Given the description of an element on the screen output the (x, y) to click on. 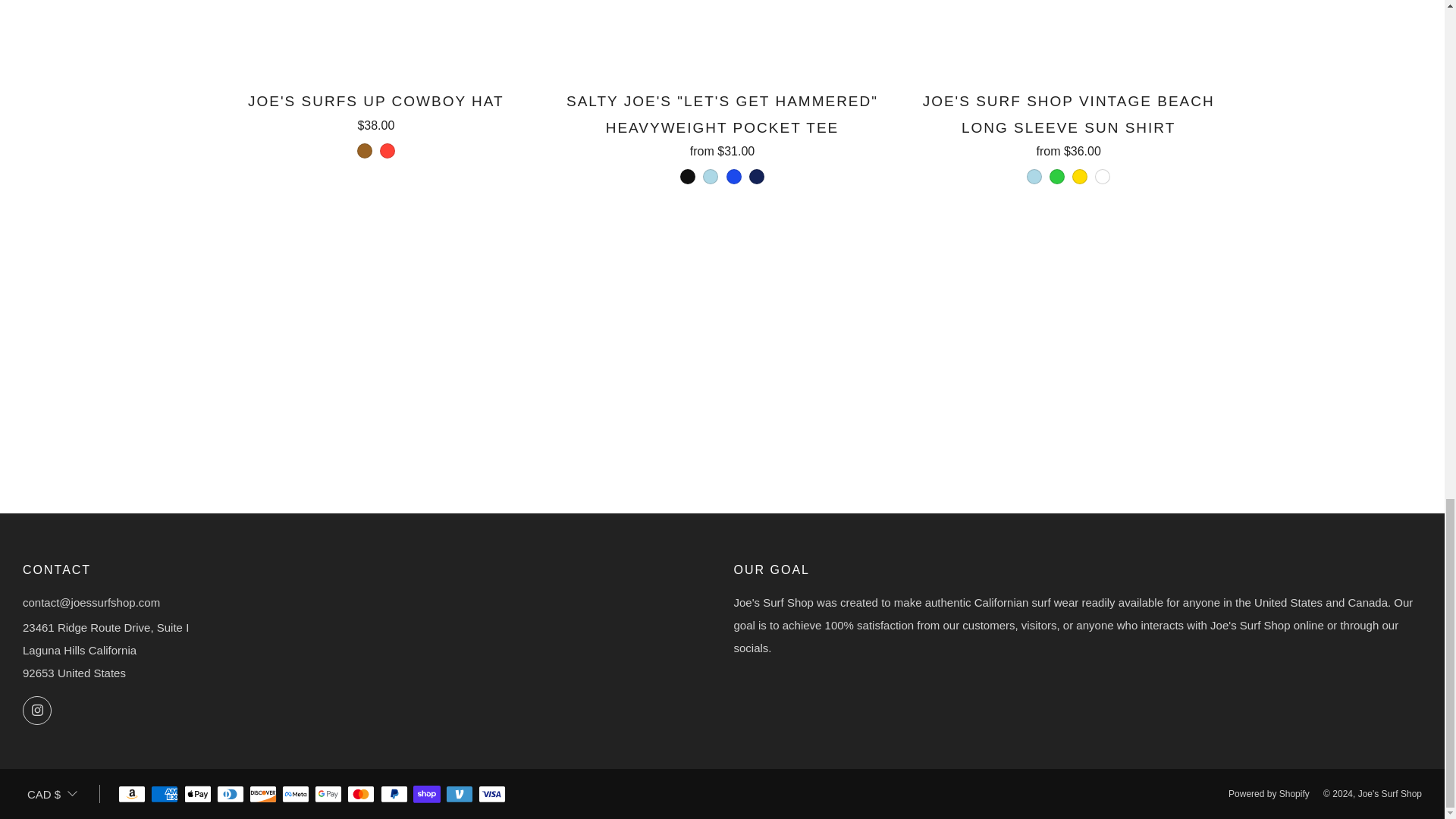
Joe's Surf Shop Vintage Beach Long Sleeve Sun Shirt (1068, 136)
Salty Joe's  (721, 136)
Joe's Surfs Up Cowboy Hat (376, 123)
